Given the description of an element on the screen output the (x, y) to click on. 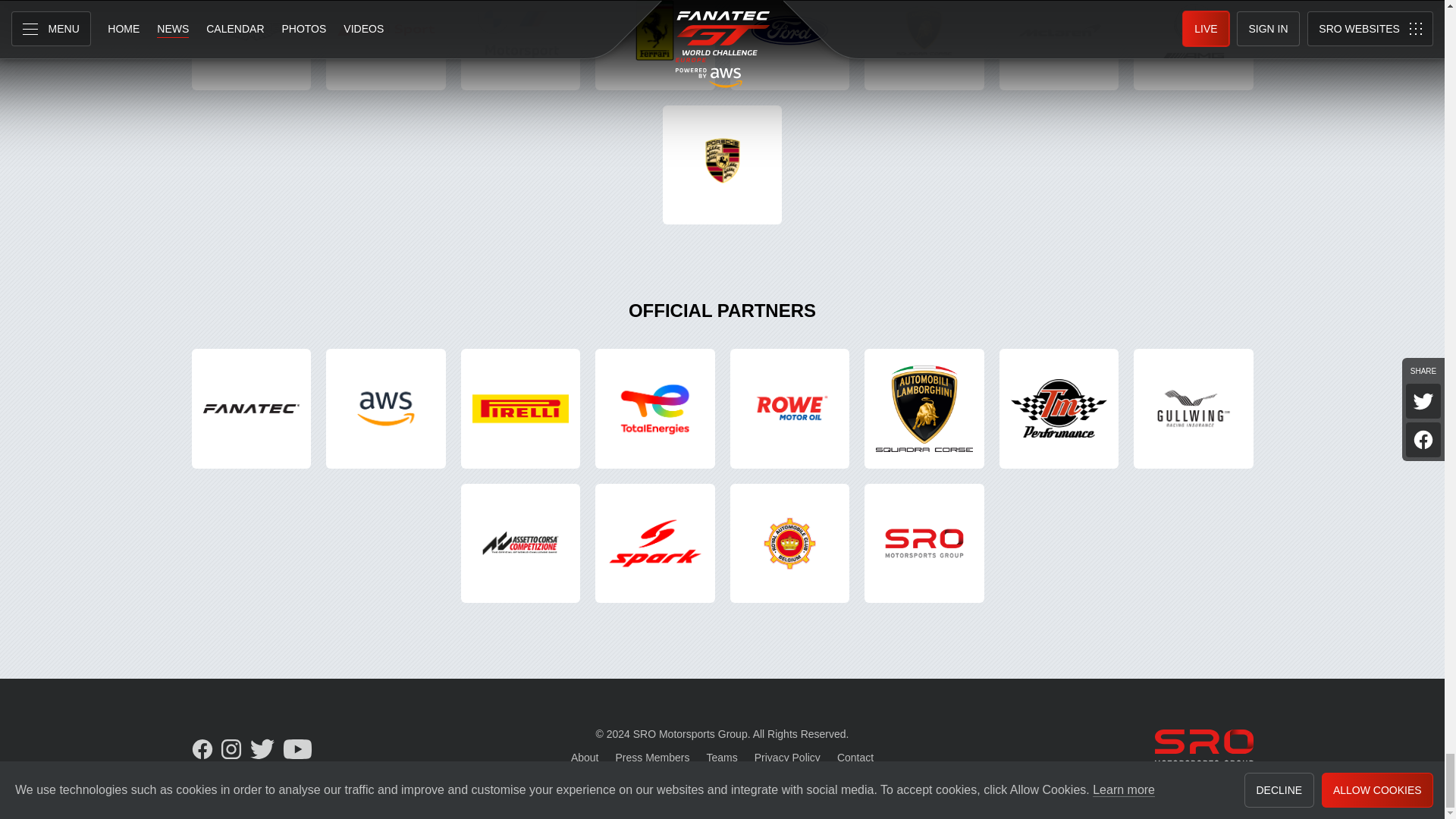
Fanatec (250, 408)
TM Performance (1058, 408)
Porsche (722, 165)
Rowe (788, 408)
Ford (788, 45)
Gullwing (1193, 408)
Ferrari (654, 45)
Audi (385, 45)
Aston Martin (250, 45)
TotalEnergies (654, 408)
RACB (788, 543)
Spark (654, 543)
AWS (385, 408)
Pirelli (520, 408)
Mercedes-AMG (1193, 45)
